Given the description of an element on the screen output the (x, y) to click on. 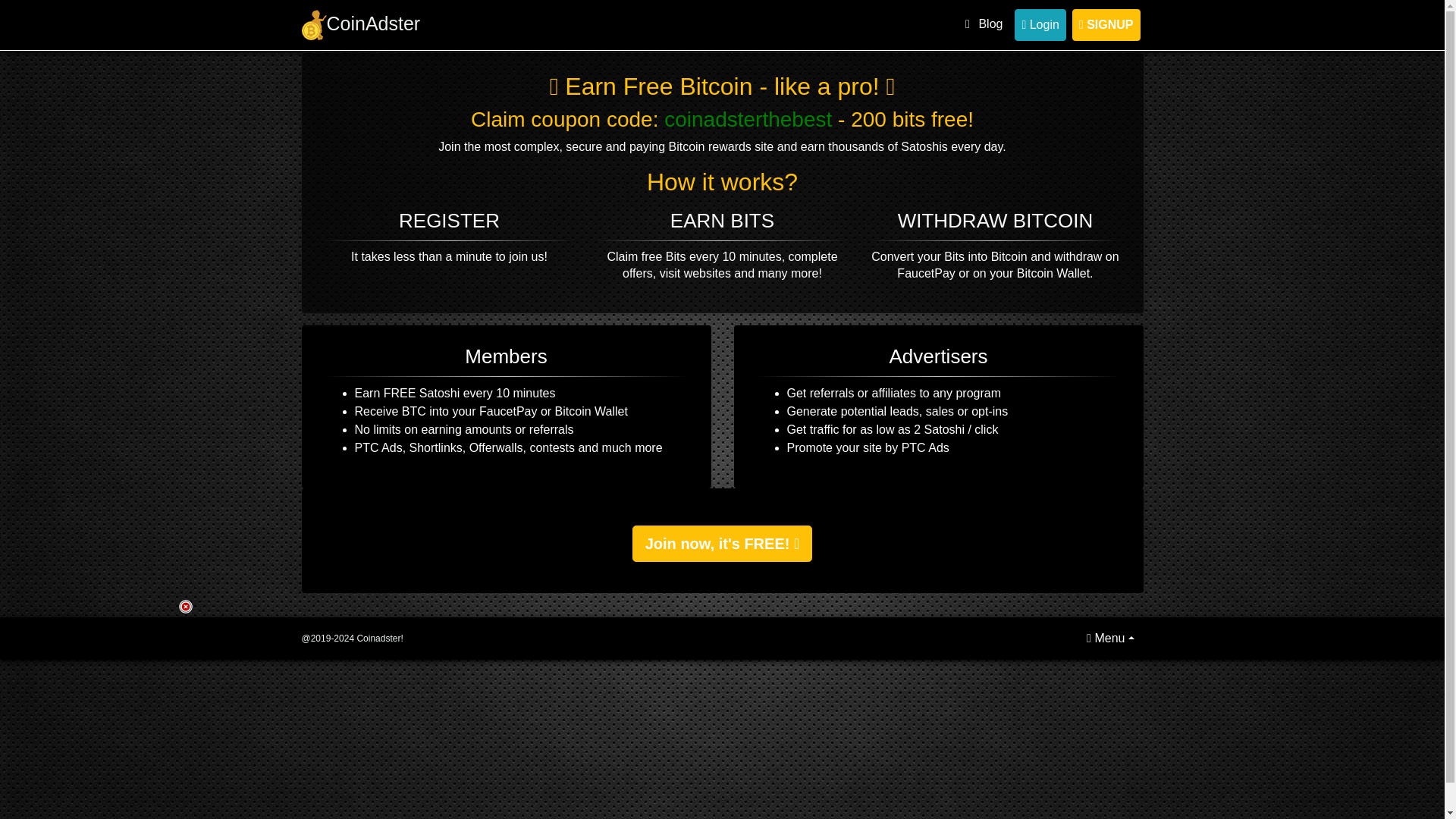
Login (1039, 24)
Blog (981, 24)
CoinAdster (360, 24)
Join now, it's FREE! (721, 543)
SIGNUP (1105, 24)
More than just faucet! (313, 24)
